Given the description of an element on the screen output the (x, y) to click on. 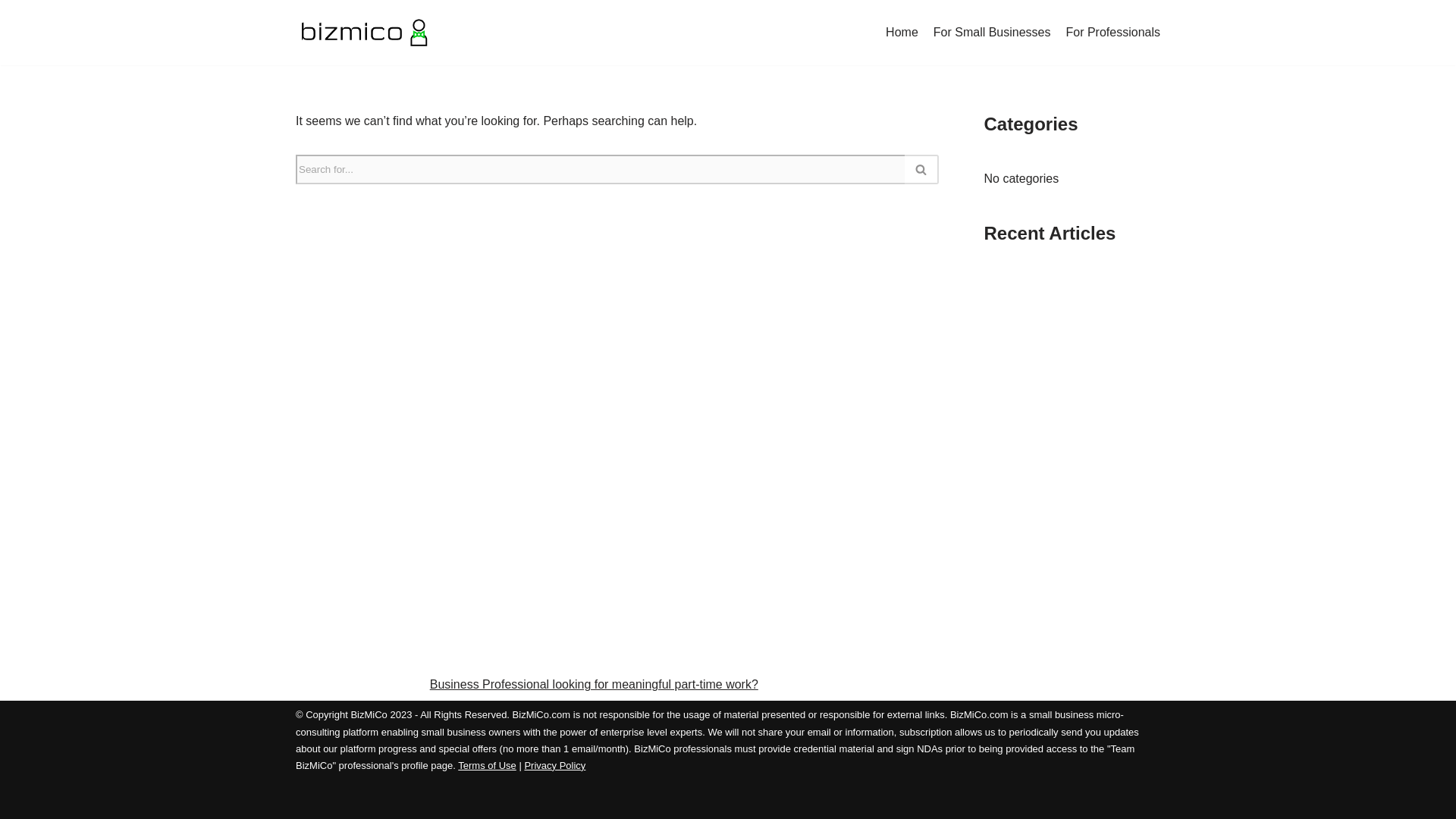
Privacy Policy (554, 765)
Skip to content (11, 31)
For Small Businesses (992, 32)
Neve (309, 799)
WordPress (431, 799)
Business Professional looking for meaningful part-time work? (593, 684)
BizMiCo - Powerful Resource for Small Businesses (362, 32)
For Professionals (1112, 32)
Home (901, 32)
Terms of Use (487, 765)
